Given the description of an element on the screen output the (x, y) to click on. 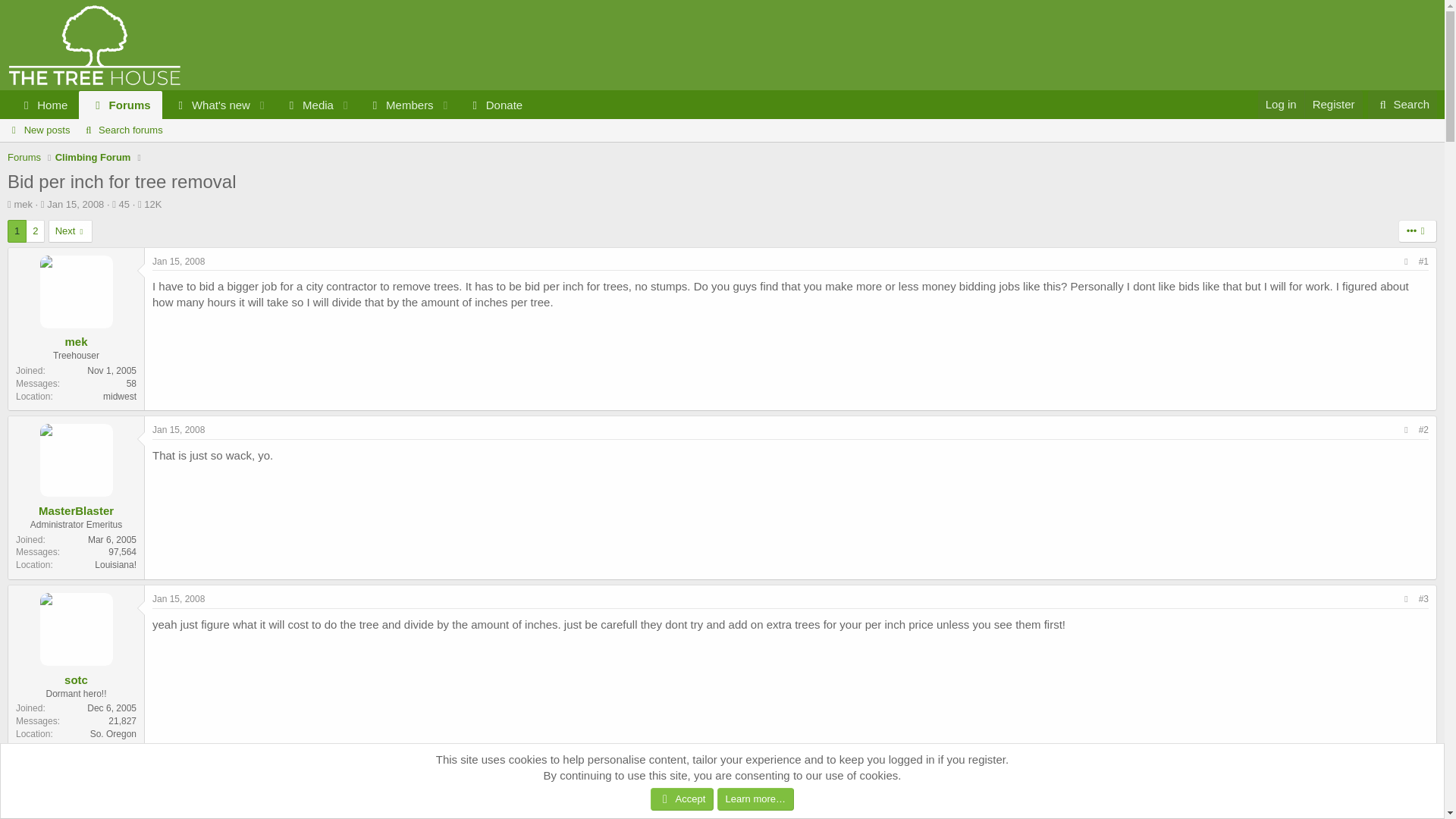
Replies (119, 204)
Jan 15, 2008 at 8:01 PM (178, 598)
Media (303, 104)
New posts (270, 104)
Members (38, 129)
Jan 15, 2008 at 7:56 PM (395, 104)
Views (721, 129)
Jan 15, 2008 at 8:02 PM (178, 429)
Search forums (146, 204)
Search (178, 767)
Home (121, 129)
Log in (1402, 104)
